Given the description of an element on the screen output the (x, y) to click on. 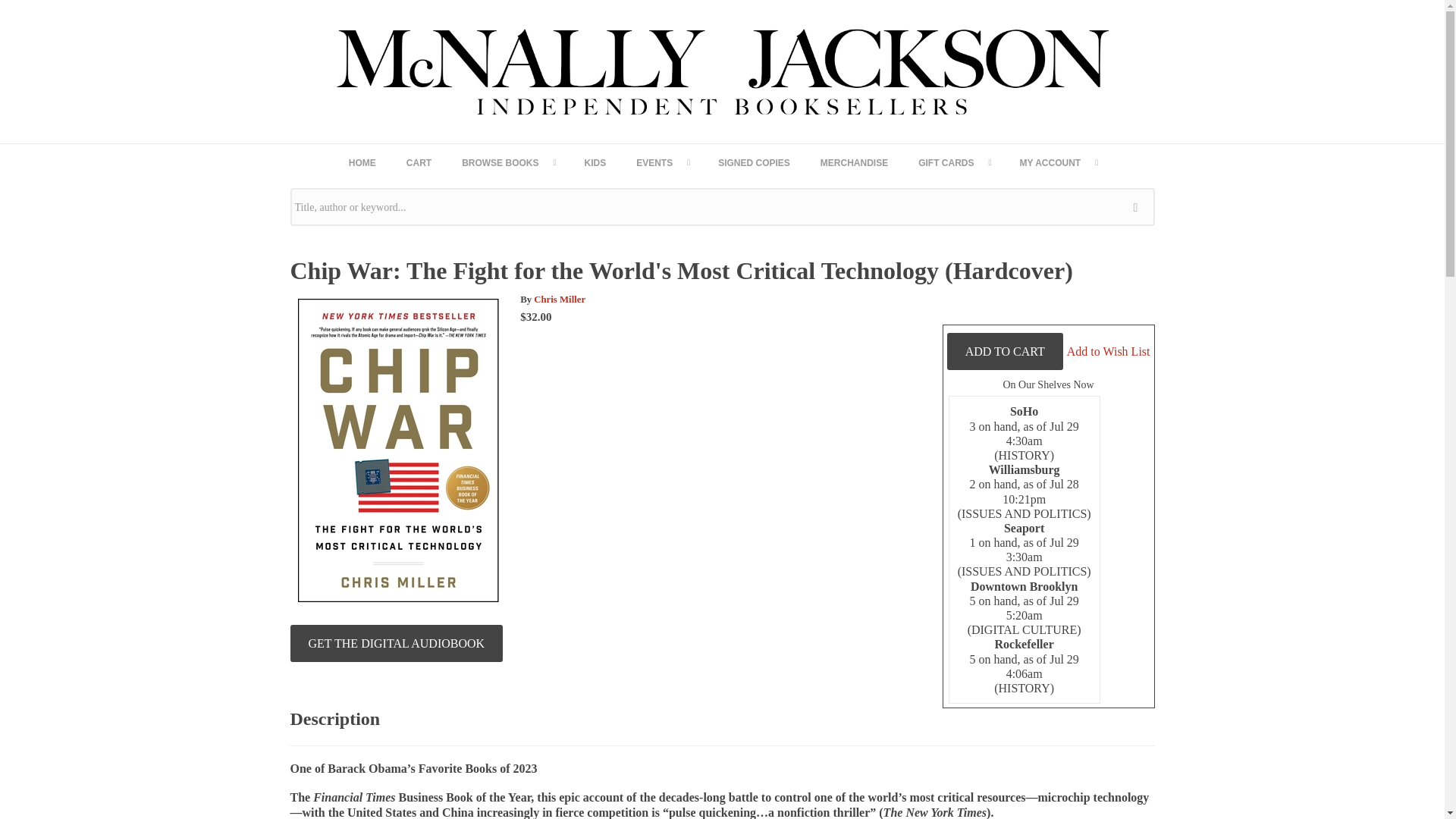
BROWSE BOOKS (507, 162)
SIGNED COPIES (754, 162)
Title, author or keyword... (721, 207)
GIFT CARDS (953, 162)
Chris Miller (559, 299)
HOME (362, 162)
CART (418, 162)
Get the Digital Audiobook (395, 642)
Add to Cart (1004, 351)
KIDS (595, 162)
Add to Cart (1004, 351)
MERCHANDISE (853, 162)
search (1139, 207)
EVENTS (662, 162)
Get the Digital Audiobook (395, 642)
